Given the description of an element on the screen output the (x, y) to click on. 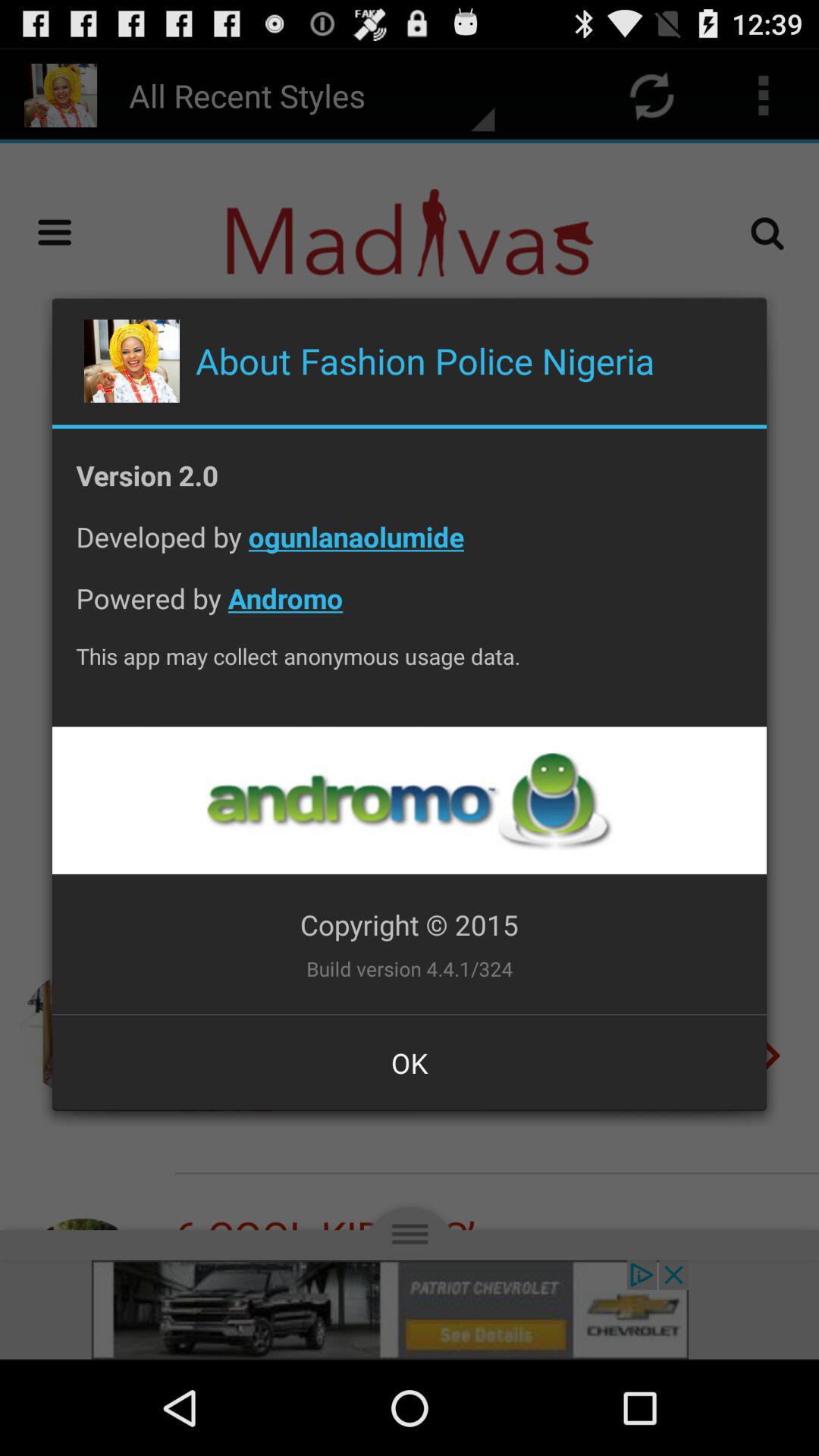
open button at the bottom (409, 1062)
